Given the description of an element on the screen output the (x, y) to click on. 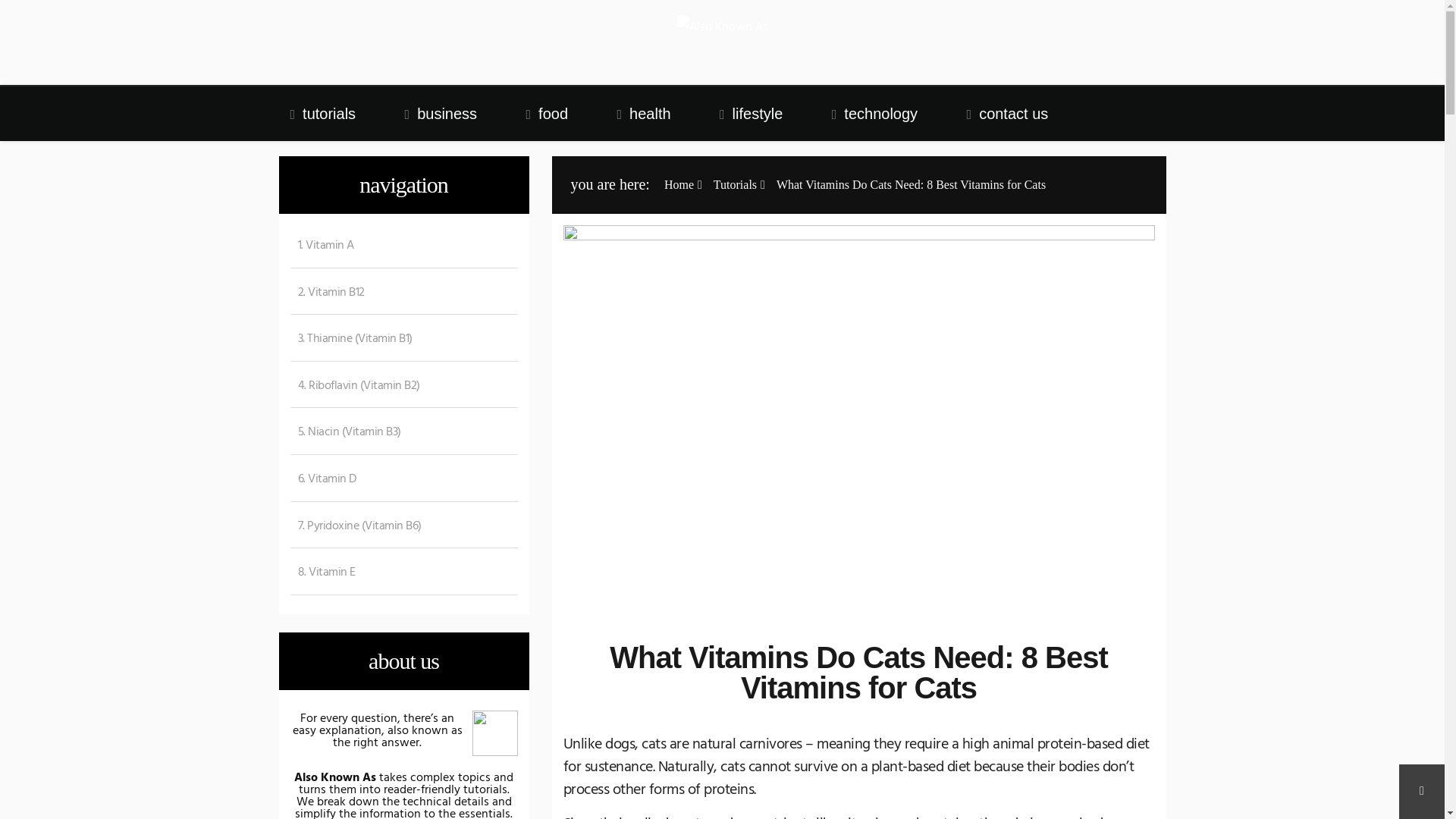
business Element type: text (441, 113)
2. Vitamin B12 Element type: text (326, 293)
3. Thiamine (Vitamin B1) Element type: text (350, 339)
1. Vitamin A Element type: text (321, 246)
tutorials Element type: text (322, 113)
Tutorials Element type: text (734, 184)
Home Element type: text (678, 184)
Also Known As Element type: text (367, 63)
Search Element type: text (12, 6)
technology Element type: text (874, 113)
5. Niacin (Vitamin B3) Element type: text (344, 432)
health Element type: text (643, 113)
6. Vitamin D Element type: text (322, 479)
food Element type: text (547, 113)
8. Vitamin E Element type: text (321, 573)
7. Pyridoxine (Vitamin B6) Element type: text (354, 526)
contact us Element type: text (1007, 113)
lifestyle Element type: text (750, 113)
What Vitamins Do Cats Need: 8 Best Vitamins for Cats Element type: text (910, 184)
4. Riboflavin (Vitamin B2) Element type: text (354, 386)
